Given the description of an element on the screen output the (x, y) to click on. 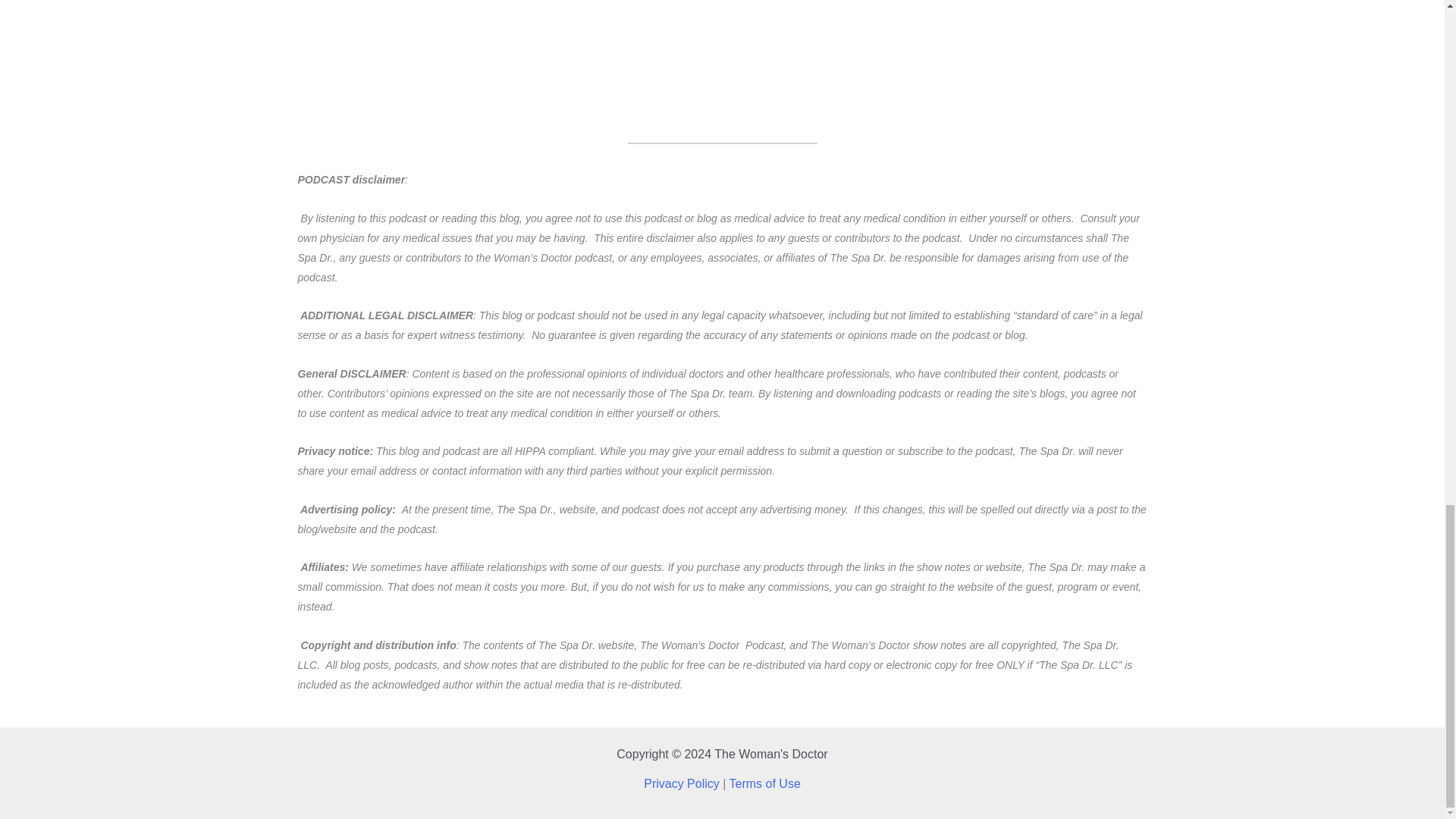
Privacy Policy (681, 783)
Terms of Use (764, 783)
